Given the description of an element on the screen output the (x, y) to click on. 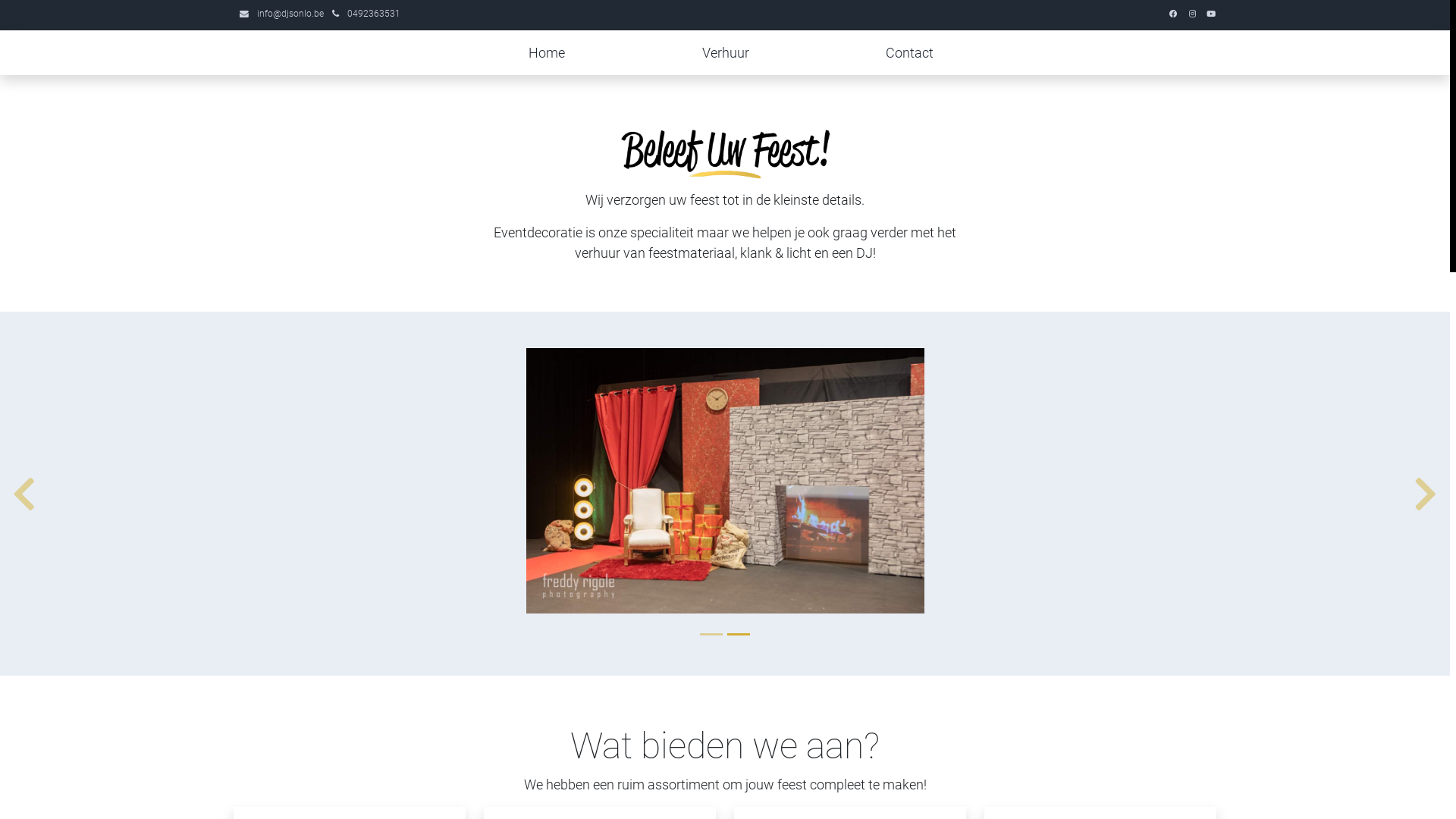
0492363531 Element type: text (373, 13)
info@djsonlo.be Element type: text (290, 13)
Home Element type: text (546, 52)
Contact Element type: text (909, 52)
Verhuur Element type: text (725, 52)
